Given the description of an element on the screen output the (x, y) to click on. 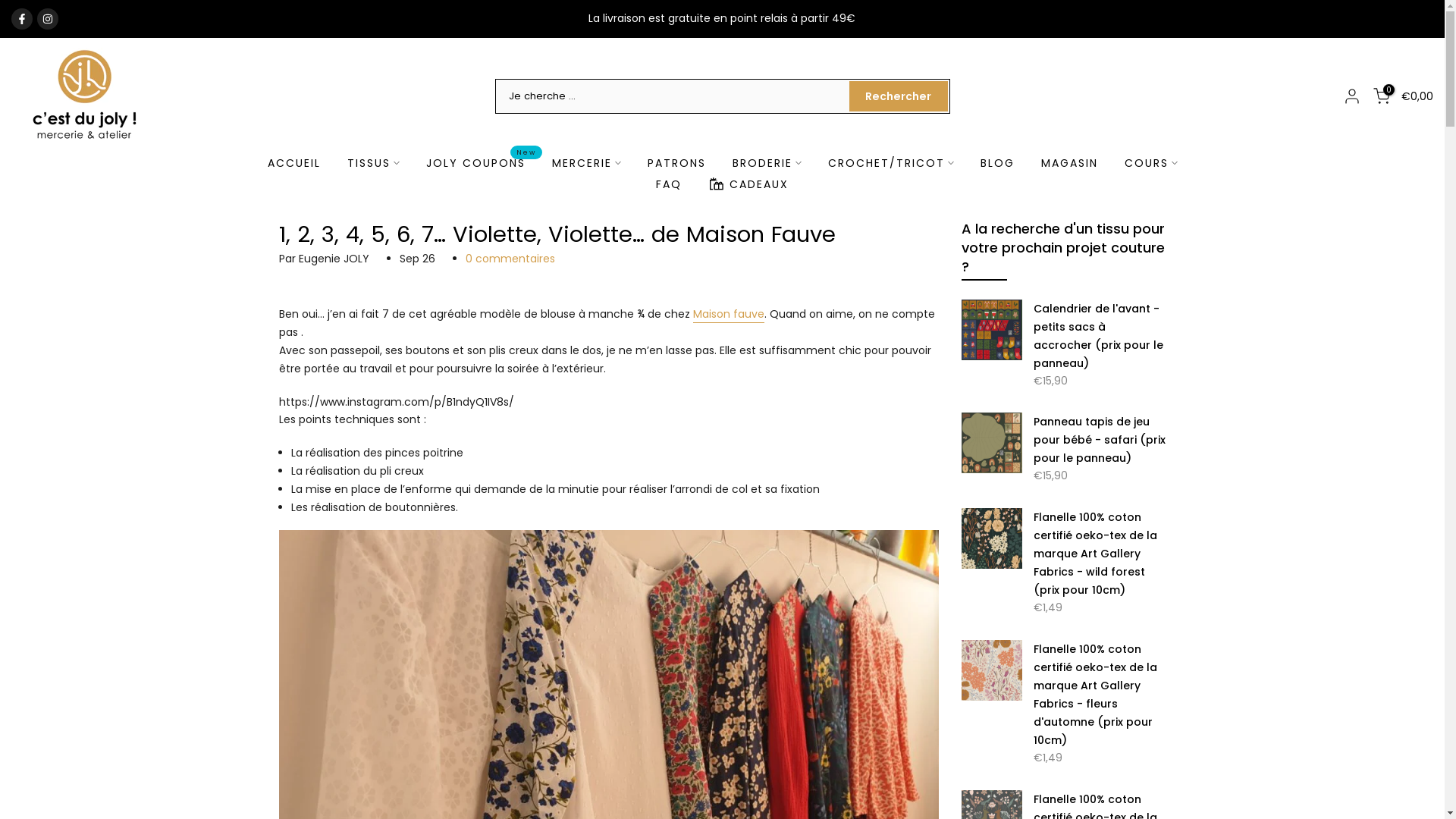
Suivre sur Facebook Element type: hover (21, 18)
FAQ Element type: text (669, 184)
CADEAUX Element type: text (747, 184)
0 commentaires Element type: text (510, 258)
Suivre sur Instagram Element type: hover (47, 18)
Maison fauve Element type: text (728, 314)
MAGASIN Element type: text (1068, 162)
CROCHET/TRICOT Element type: text (890, 162)
BRODERIE Element type: text (766, 162)
JOLY COUPONS
New Element type: text (475, 162)
BLOG Element type: text (996, 162)
PATRONS Element type: text (675, 162)
TISSUS Element type: text (372, 162)
Rechercher Element type: text (898, 95)
COURS Element type: text (1150, 162)
MERCERIE Element type: text (585, 162)
ACCUEIL Element type: text (293, 162)
